Given the description of an element on the screen output the (x, y) to click on. 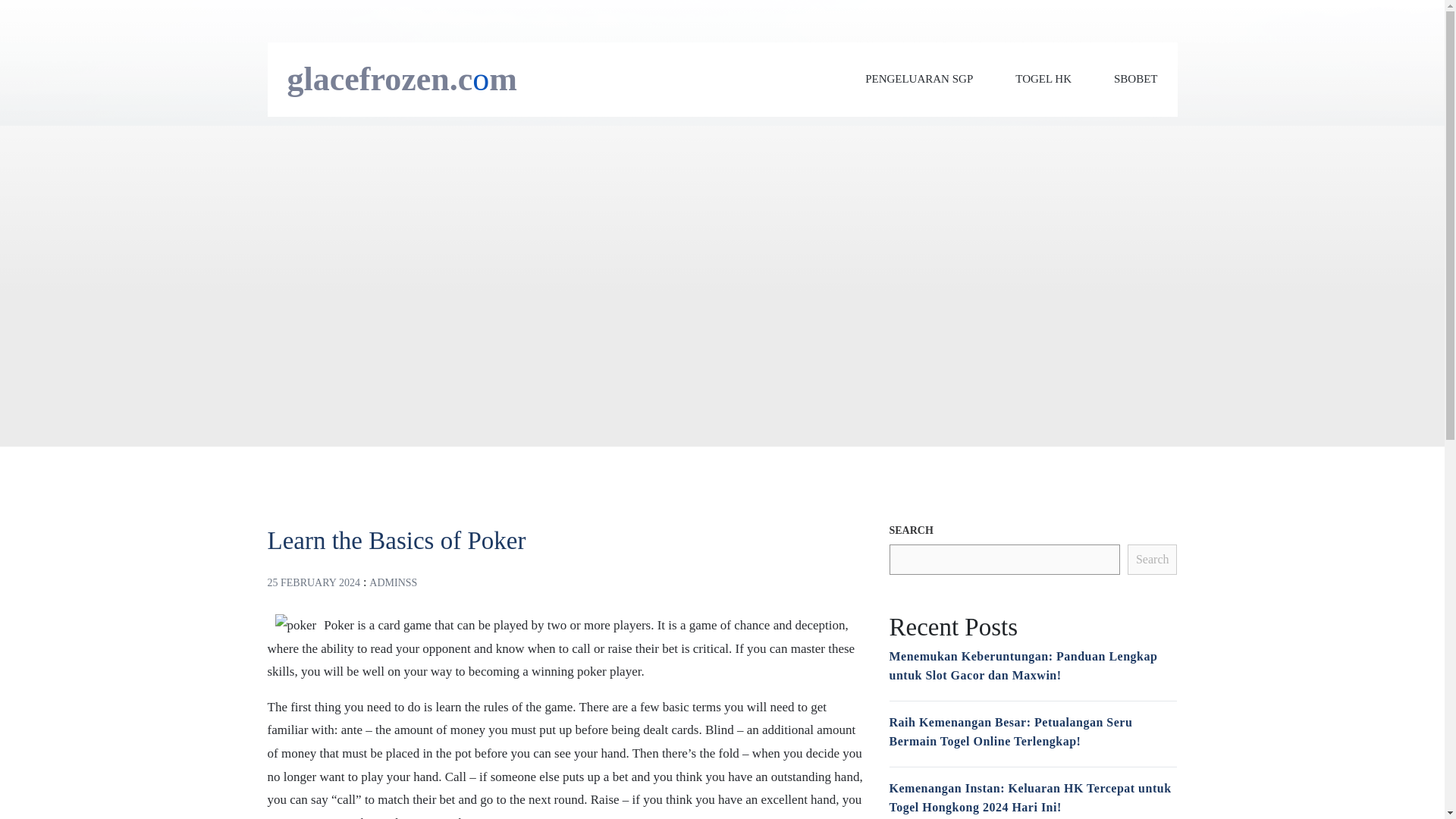
PENGELUARAN SGP (918, 78)
Search (1151, 559)
TOGEL HK (1042, 78)
ADMINSS (392, 582)
glacefrozen.com (401, 78)
SBOBET (1135, 78)
25 FEBRUARY 2024 (312, 582)
